Given the description of an element on the screen output the (x, y) to click on. 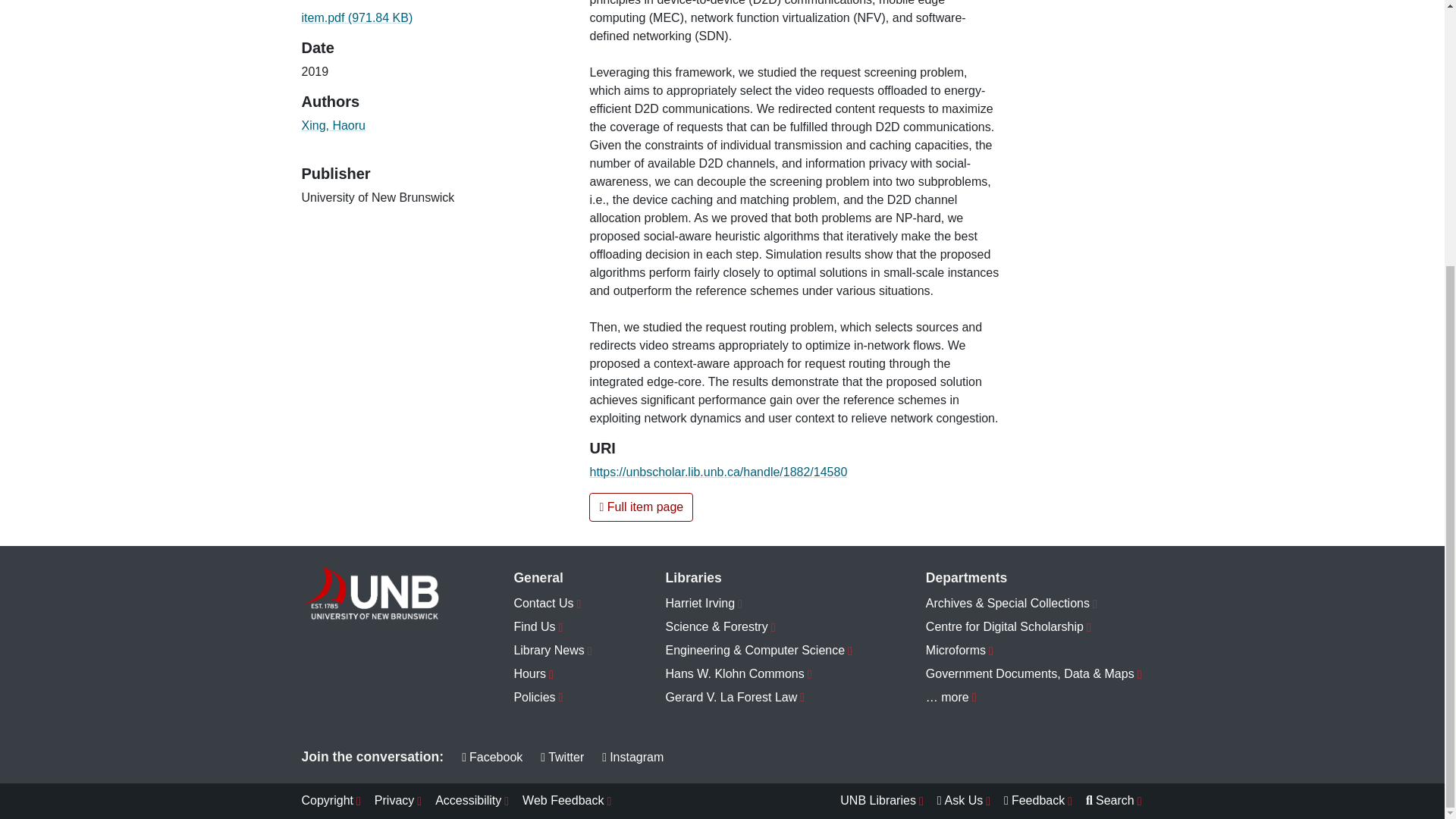
Policies (552, 698)
Contact Us (552, 603)
Library News (552, 650)
Microforms (1034, 650)
Privacy (398, 801)
Harriet Irving (759, 603)
Hours (552, 674)
Full item page (641, 507)
Gerard V. La Forest Law (759, 698)
Instagram (632, 757)
